Given the description of an element on the screen output the (x, y) to click on. 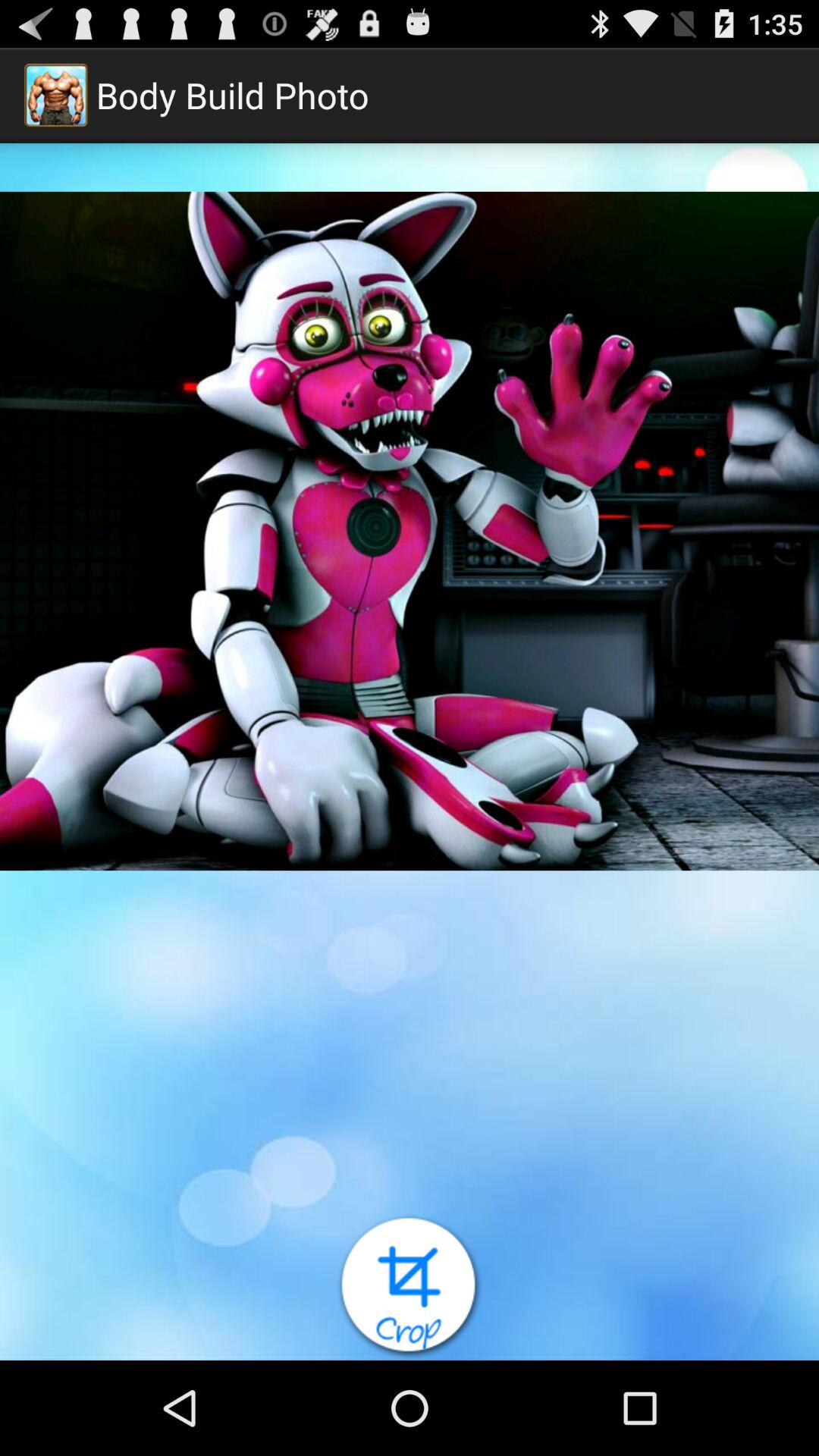
crop the size of photo option (409, 1287)
